Given the description of an element on the screen output the (x, y) to click on. 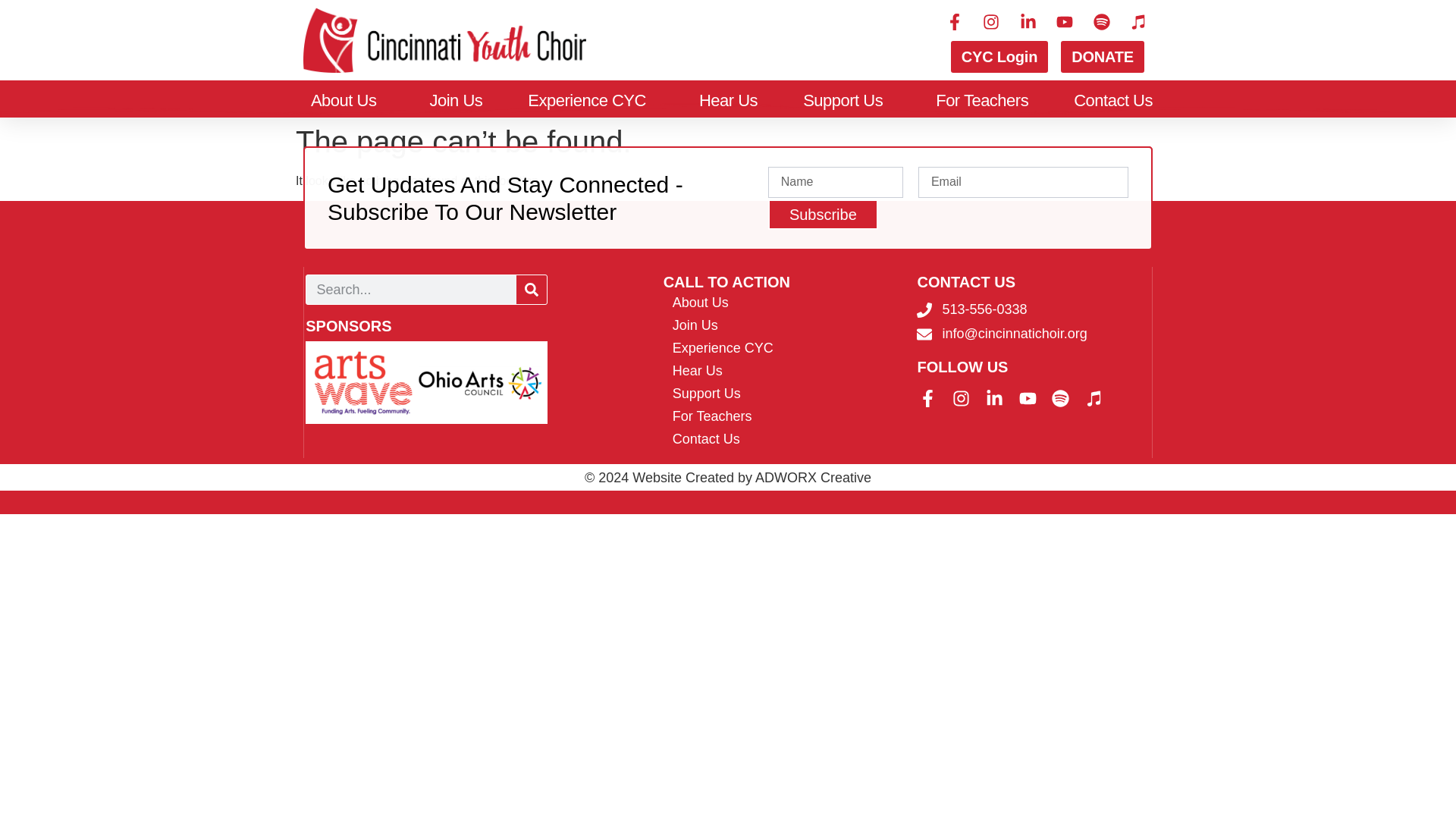
Support Us (846, 100)
DONATE (1102, 56)
CYC Login (999, 56)
Experience CYC (590, 100)
Contact Us (1113, 100)
Join Us (455, 100)
For Teachers (981, 100)
Hear Us (727, 100)
About Us (347, 100)
